Given the description of an element on the screen output the (x, y) to click on. 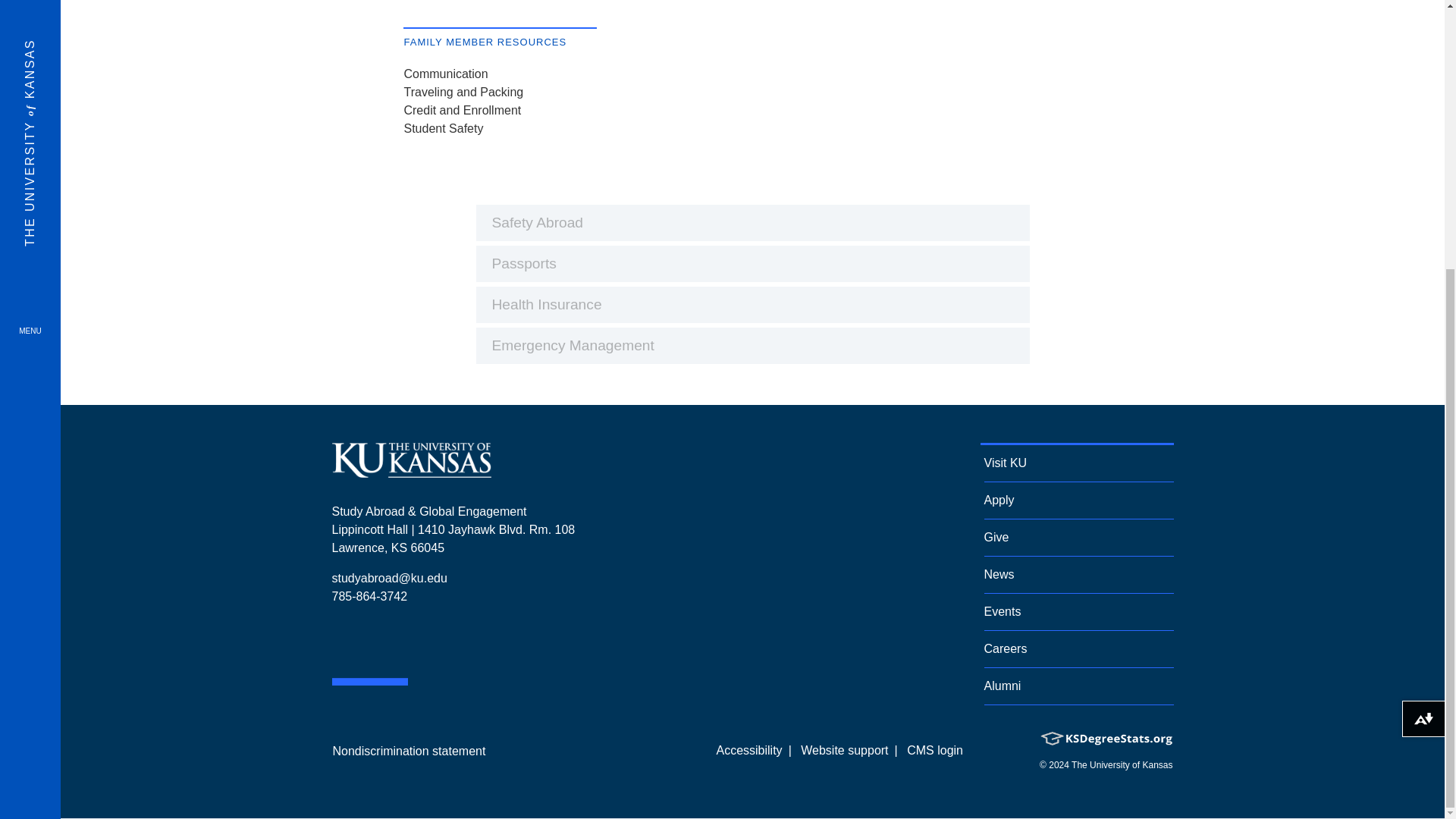
The University of Kansas (411, 472)
